Given the description of an element on the screen output the (x, y) to click on. 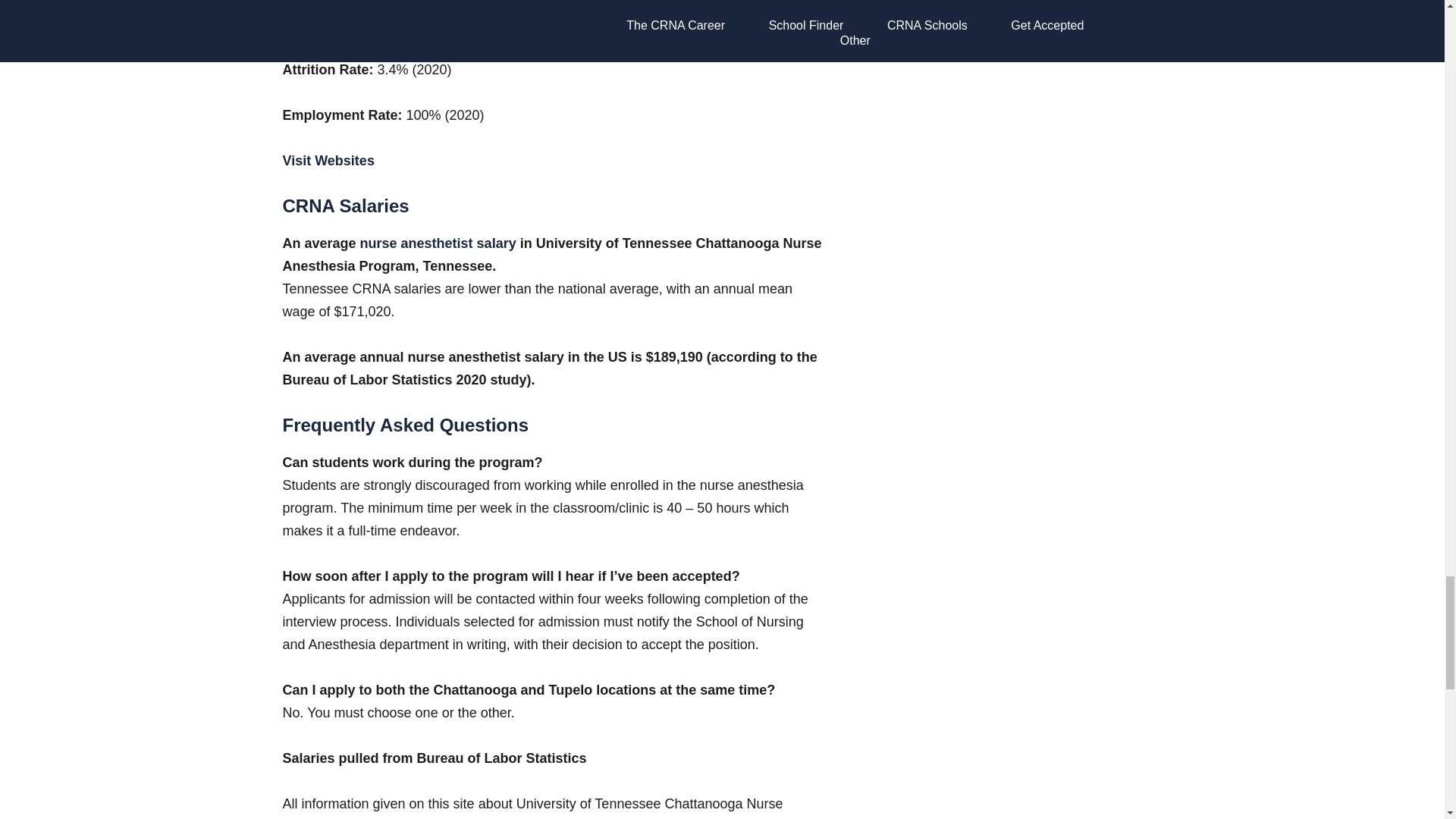
nurse anesthetist salary (436, 242)
Visit Websites (328, 160)
Bureau of Labor Statistics (501, 758)
